Given the description of an element on the screen output the (x, y) to click on. 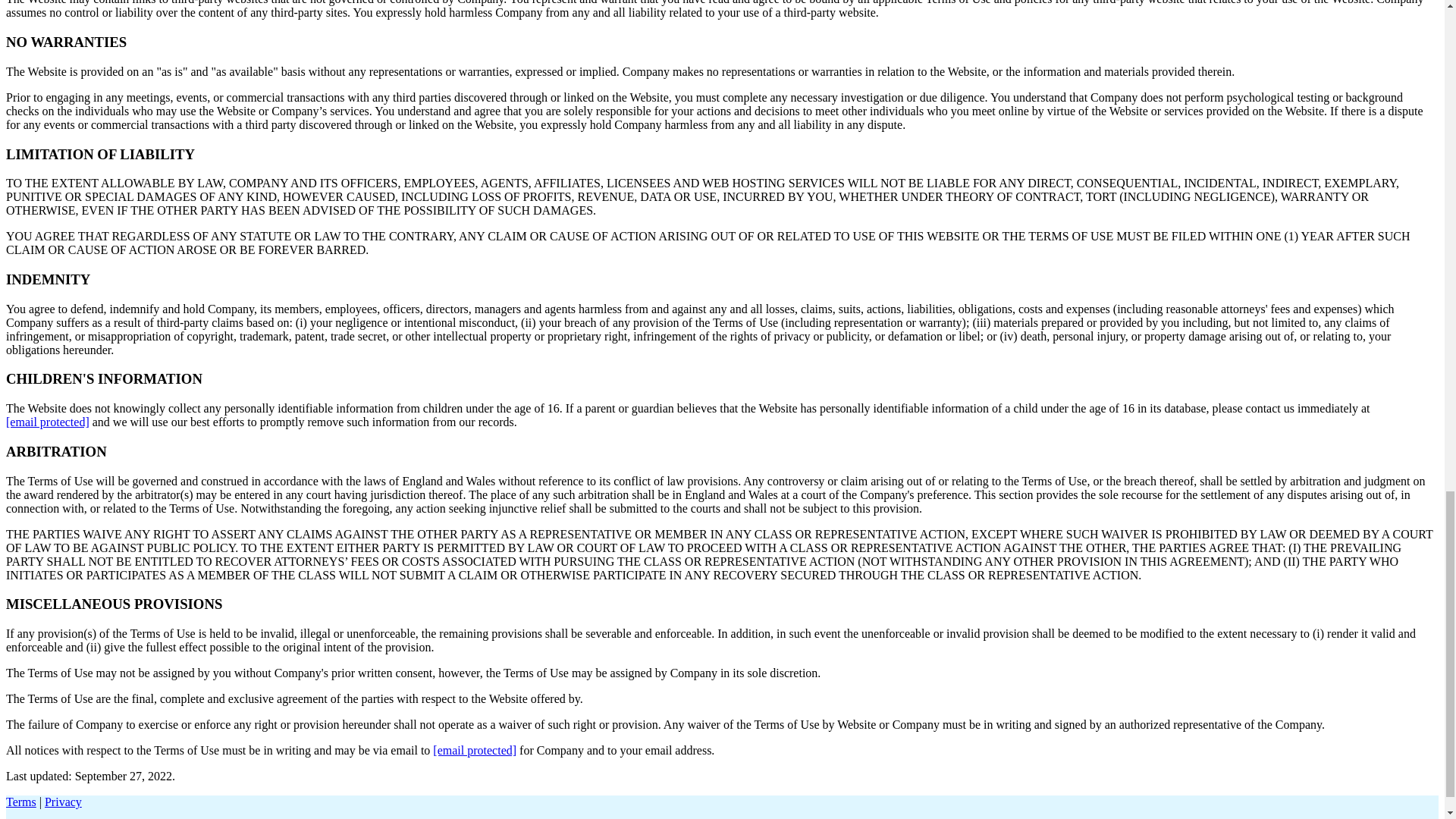
Privacy (63, 801)
Terms (20, 801)
